Given the description of an element on the screen output the (x, y) to click on. 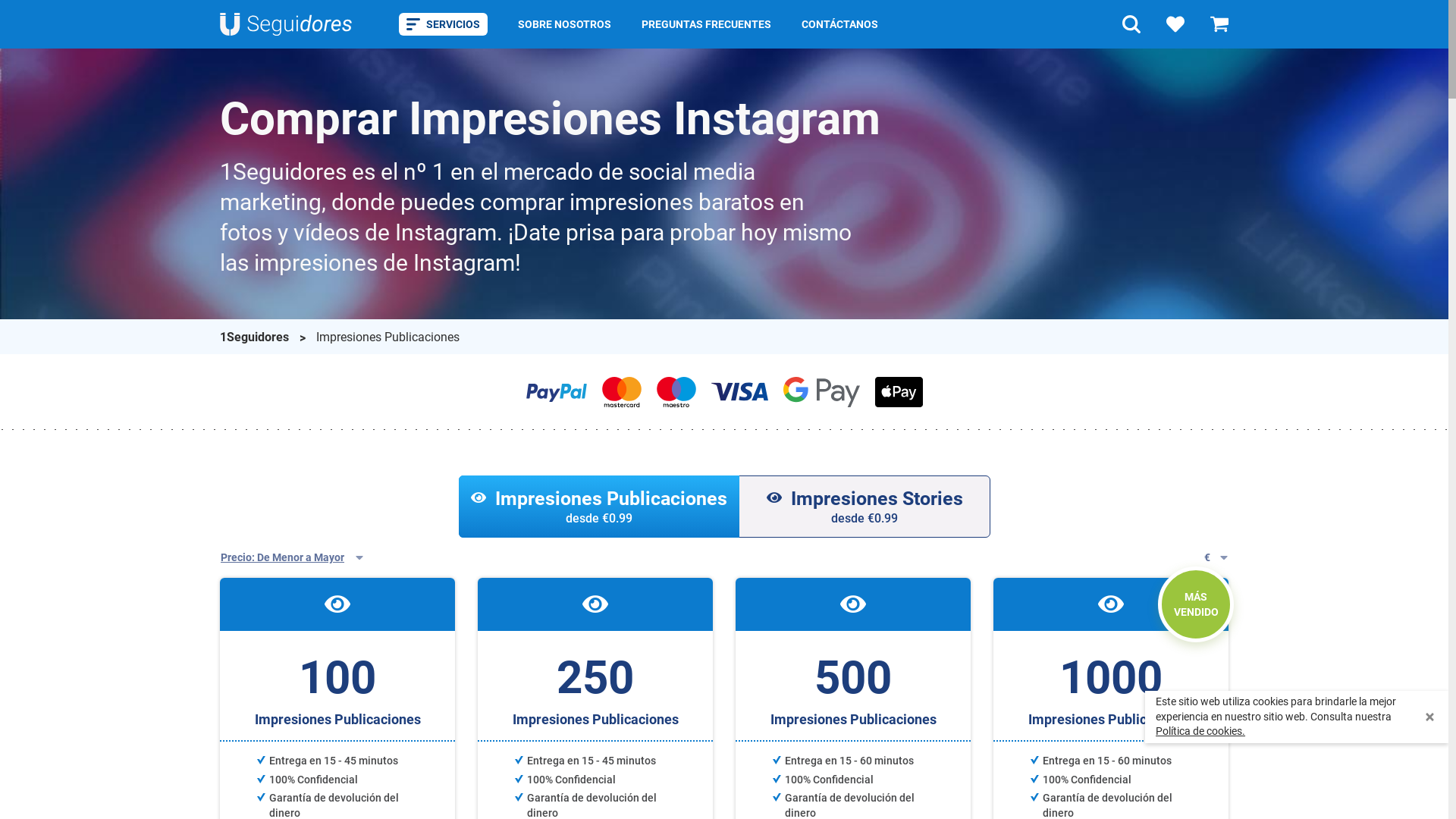
1Seguidores Element type: text (255, 336)
Buscar Element type: hover (1131, 24)
PREGUNTAS FRECUENTES Element type: text (706, 24)
Cesta Element type: hover (1219, 24)
Lista de deseos Element type: hover (1175, 24)
SOBRE NOSOTROS Element type: text (564, 24)
